Given the description of an element on the screen output the (x, y) to click on. 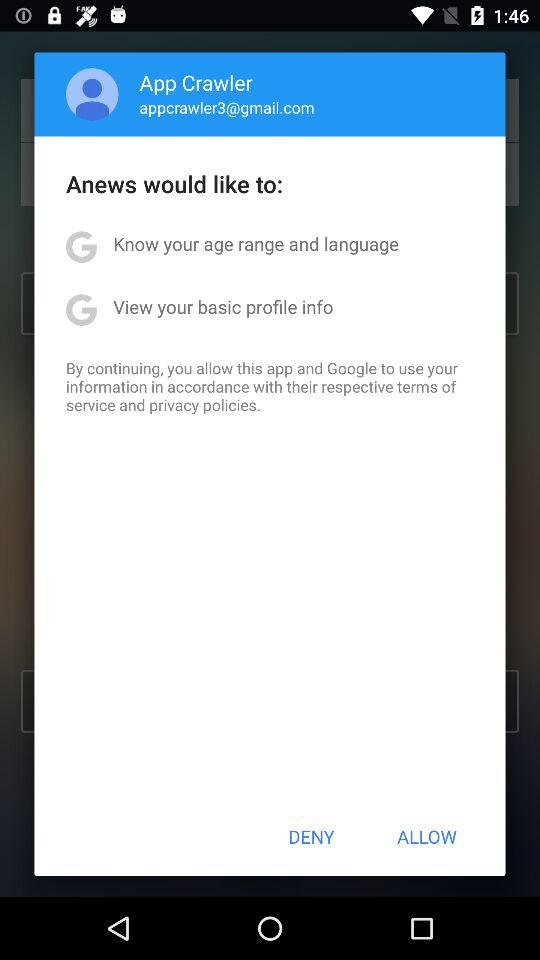
tap icon above appcrawler3@gmail.com icon (195, 82)
